Given the description of an element on the screen output the (x, y) to click on. 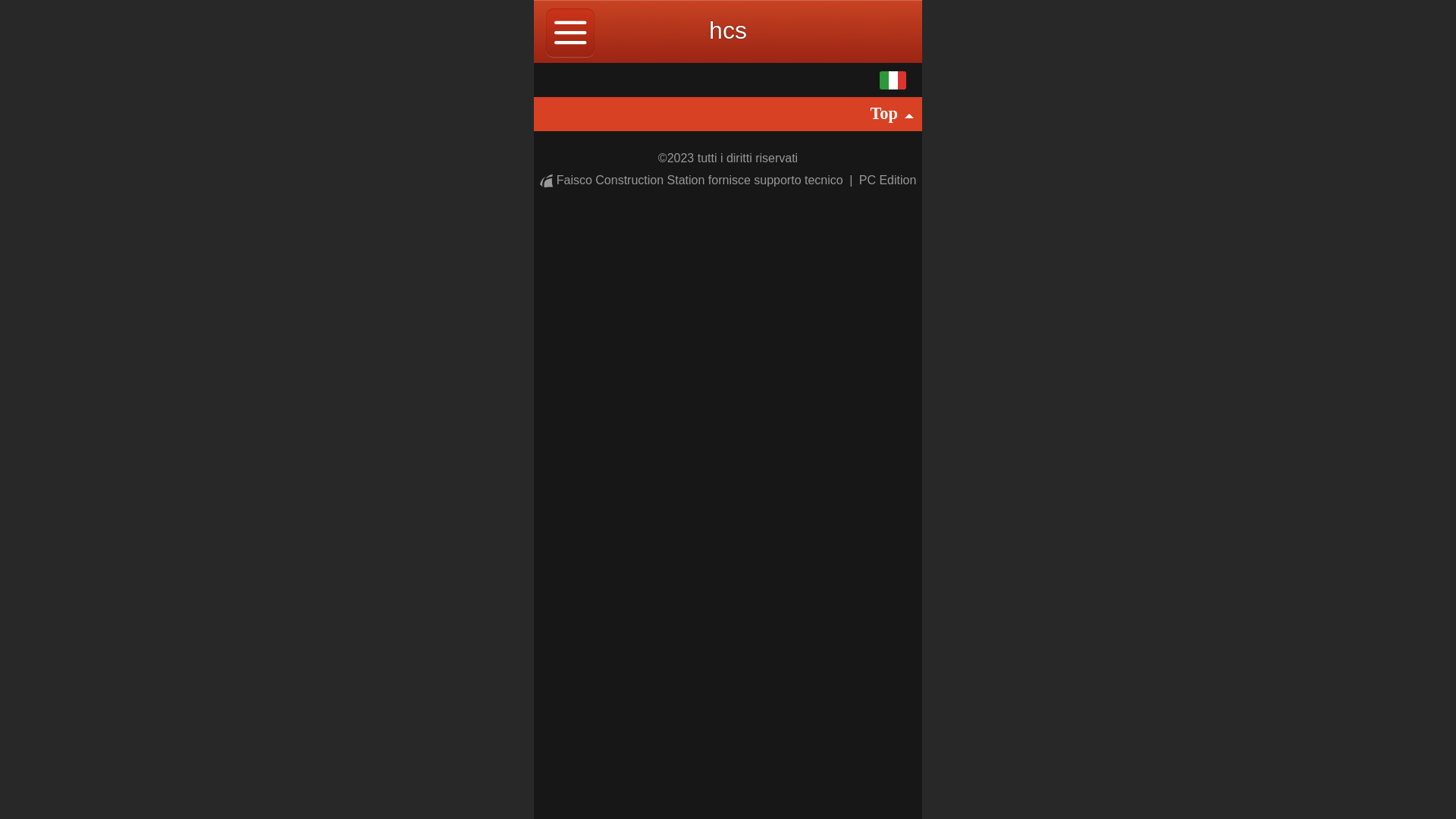
hcs Element type: text (727, 29)
Faisco Construction Station fornisce supporto tecnico Element type: text (692, 179)
PC Edition Element type: text (887, 179)
